Given the description of an element on the screen output the (x, y) to click on. 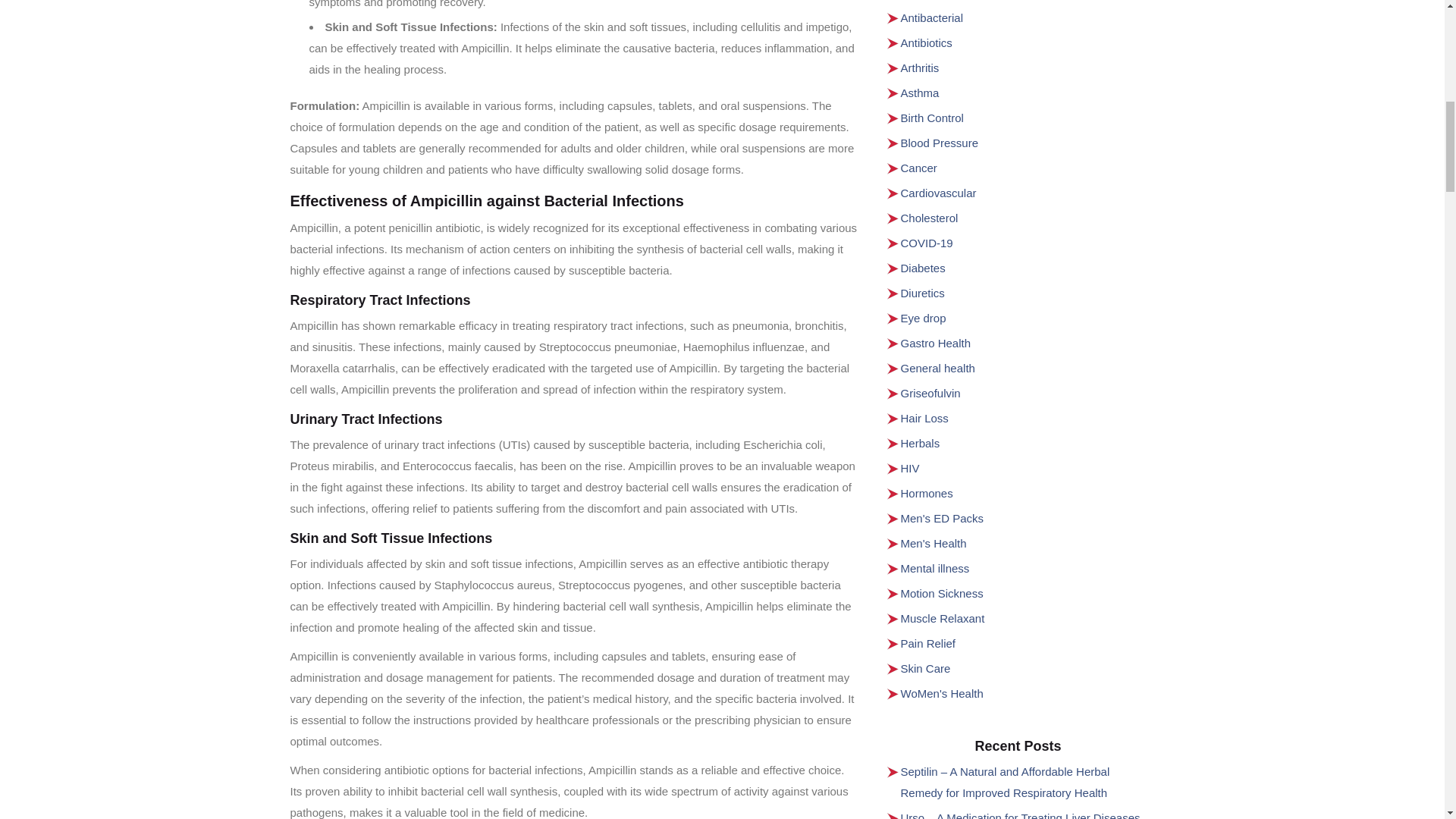
COVID-19 (927, 242)
Antibacterial (932, 17)
Blood Pressure (939, 142)
Cancer (919, 167)
Cholesterol (929, 217)
Diuretics (922, 292)
Asthma (920, 92)
Birth Control (932, 117)
Eye drop (923, 318)
Diabetes (922, 267)
